Given the description of an element on the screen output the (x, y) to click on. 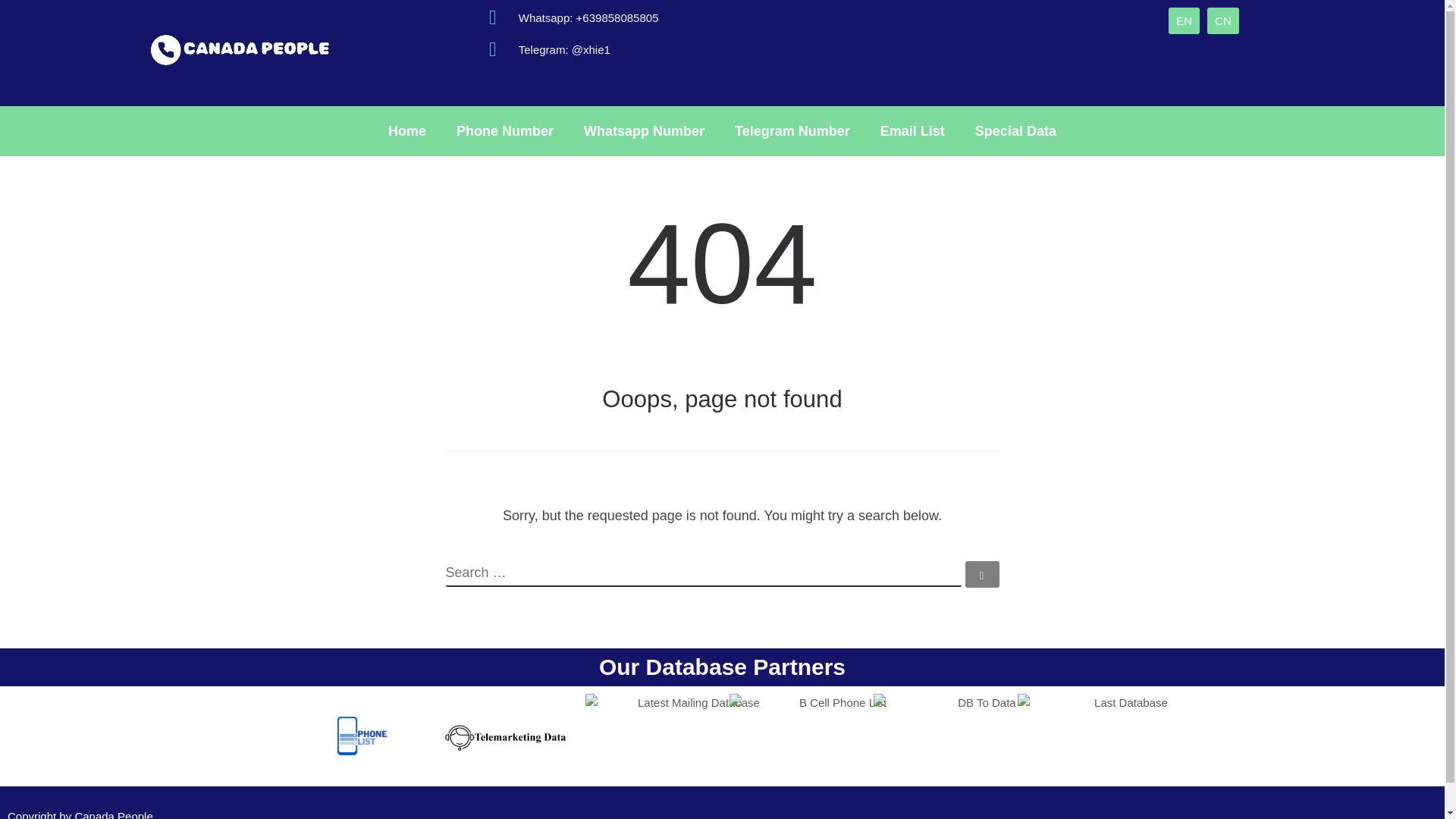
Whatsapp Number (644, 130)
EN (1184, 20)
Telegram Number (791, 130)
Canada People (113, 814)
Home (406, 130)
Special Data (1015, 130)
Phone Number (505, 130)
CN (1223, 20)
Email List (911, 130)
